Given the description of an element on the screen output the (x, y) to click on. 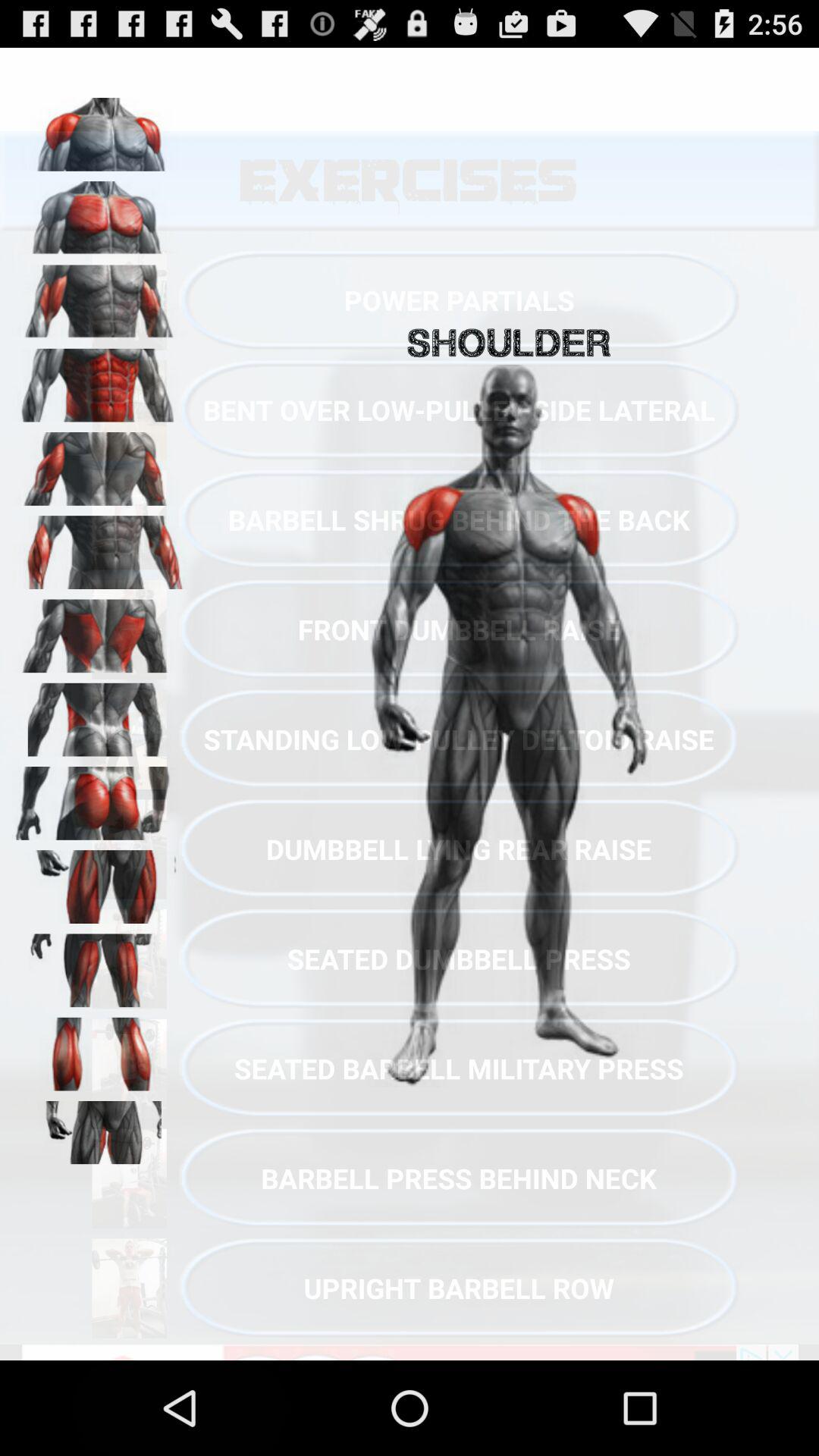
show muscle category (99, 547)
